Given the description of an element on the screen output the (x, y) to click on. 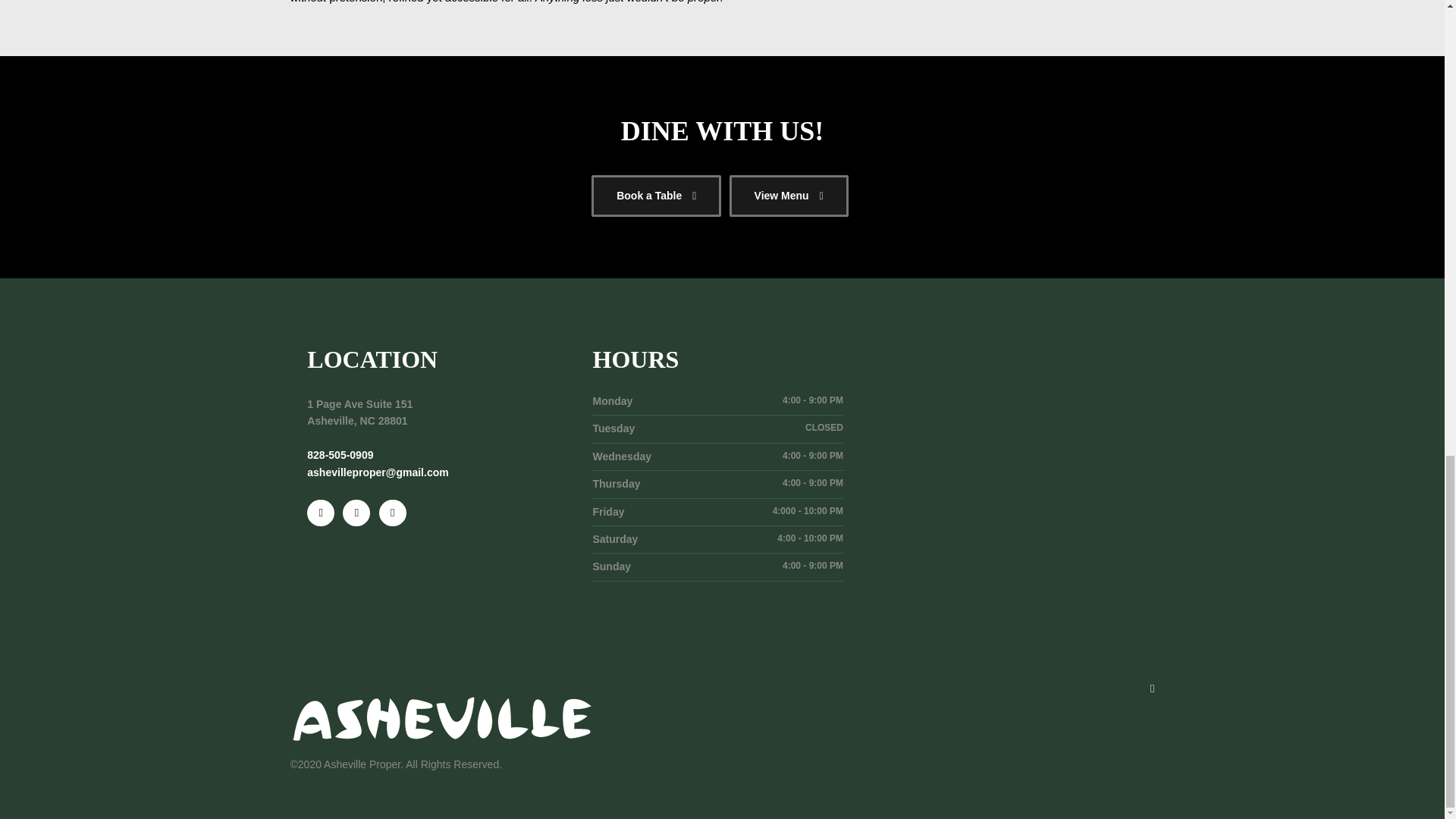
View Menu (788, 196)
828-505-0909 (339, 454)
Book a Table (655, 196)
